Given the description of an element on the screen output the (x, y) to click on. 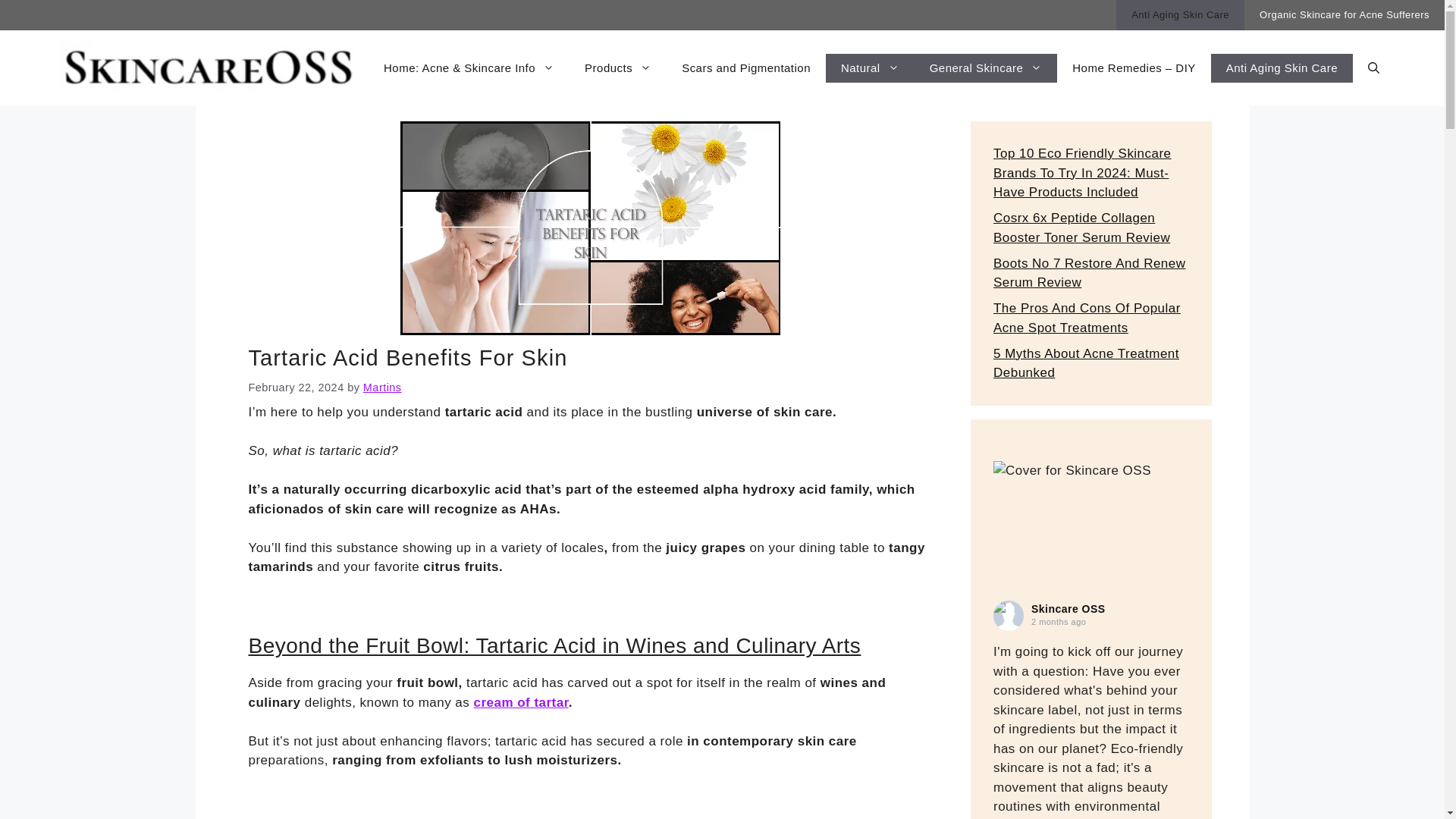
Tartaric Acid Benefits For Skin - Skincare For Acne (590, 227)
Skincare OSS (1007, 615)
Anti Aging Skin Care (1180, 15)
Skincare For Acne (209, 68)
View all posts by Martins (381, 387)
